Given the description of an element on the screen output the (x, y) to click on. 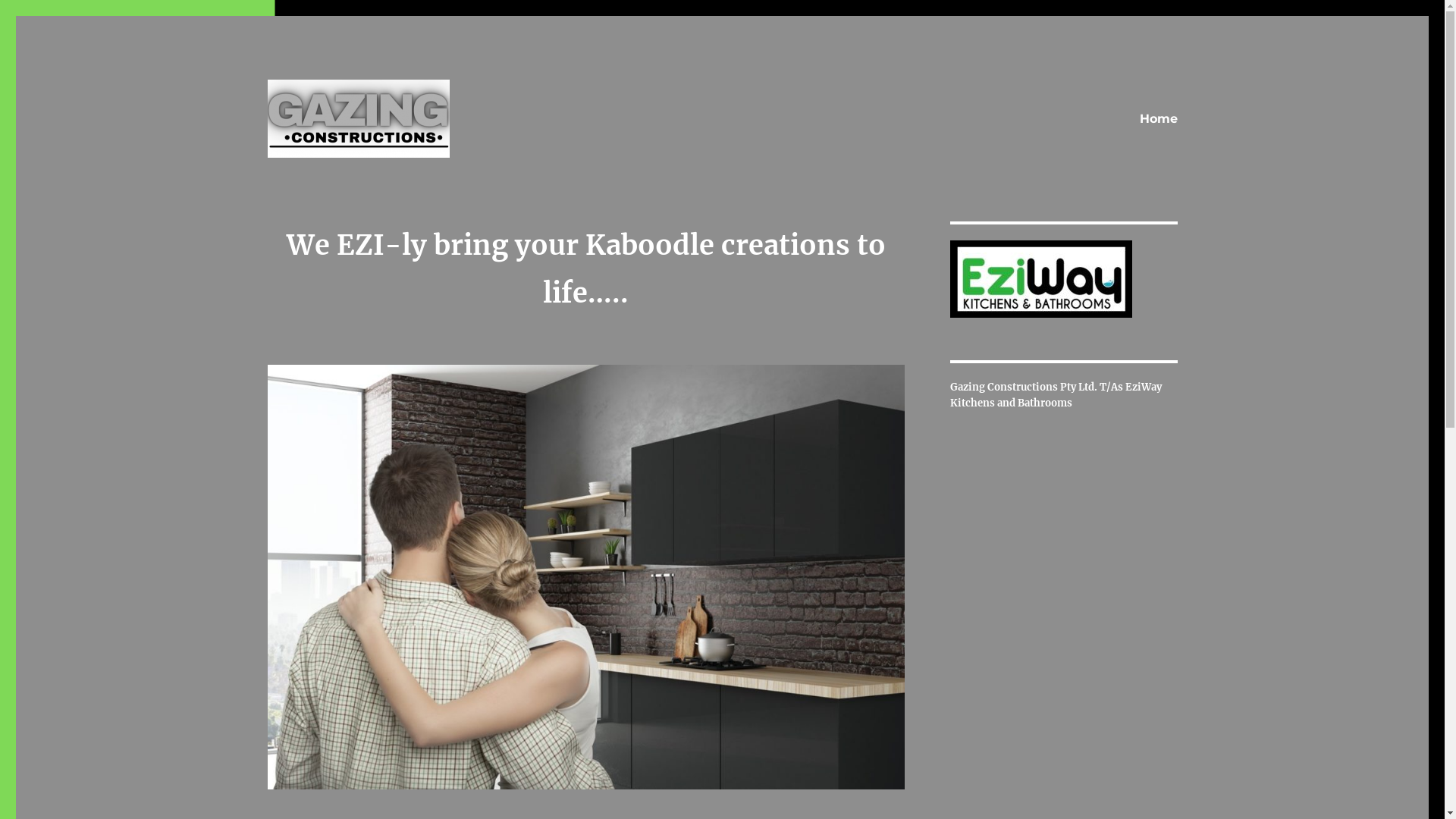
Home Element type: text (1157, 118)
